Given the description of an element on the screen output the (x, y) to click on. 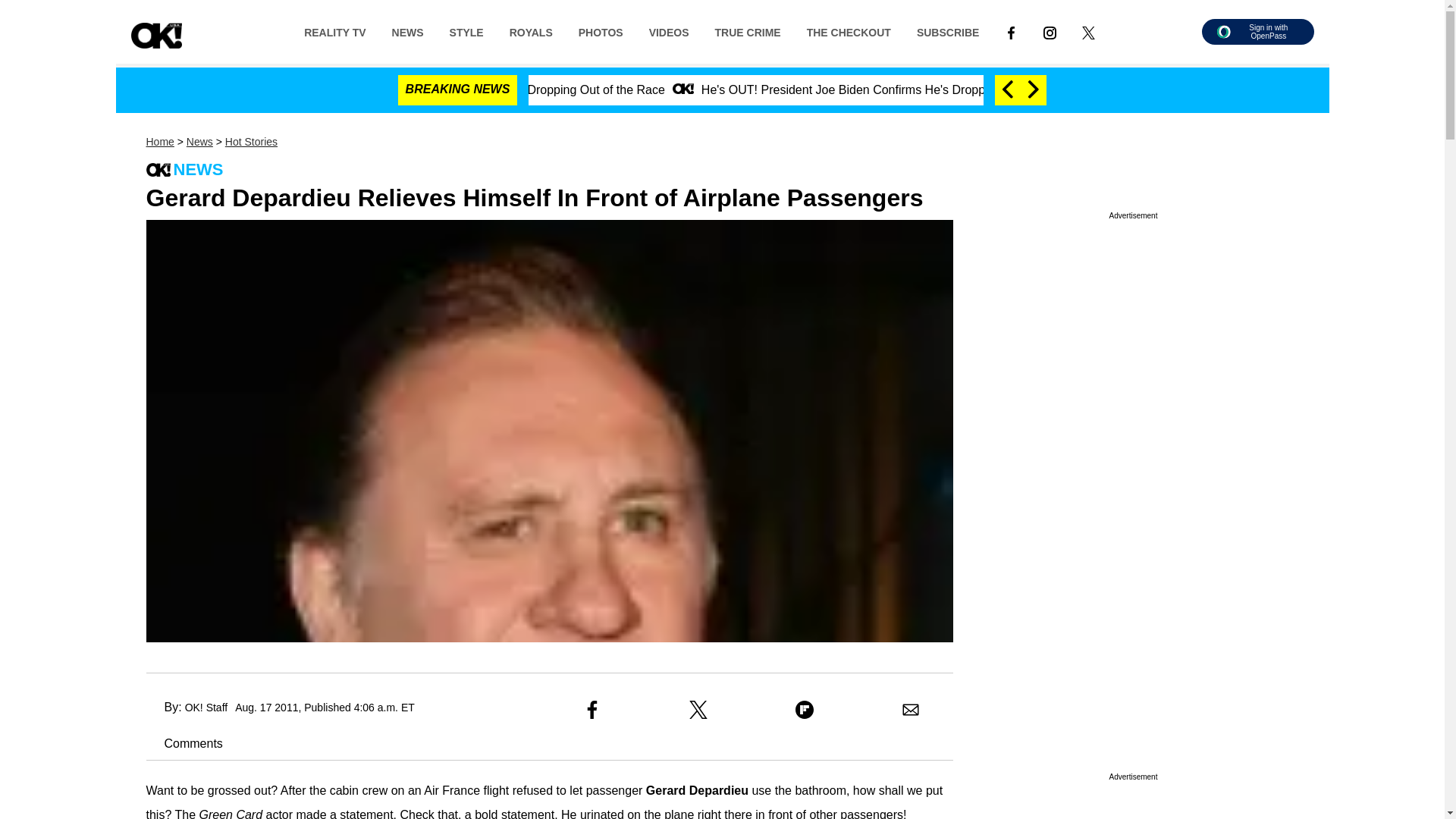
LINK TO FACEBOOK (1010, 32)
VIDEOS (668, 31)
Share to Facebook (590, 710)
STYLE (466, 31)
Sign in with OpenPass (1257, 31)
LINK TO X (1087, 32)
Hot Stories (251, 141)
PHOTOS (601, 31)
Link to Facebook (1010, 31)
Share to Email (909, 710)
THE CHECKOUT (848, 31)
Link to X (1088, 31)
LINK TO INSTAGRAM (1049, 31)
ROYALS (531, 31)
REALITY TV (334, 31)
